Given the description of an element on the screen output the (x, y) to click on. 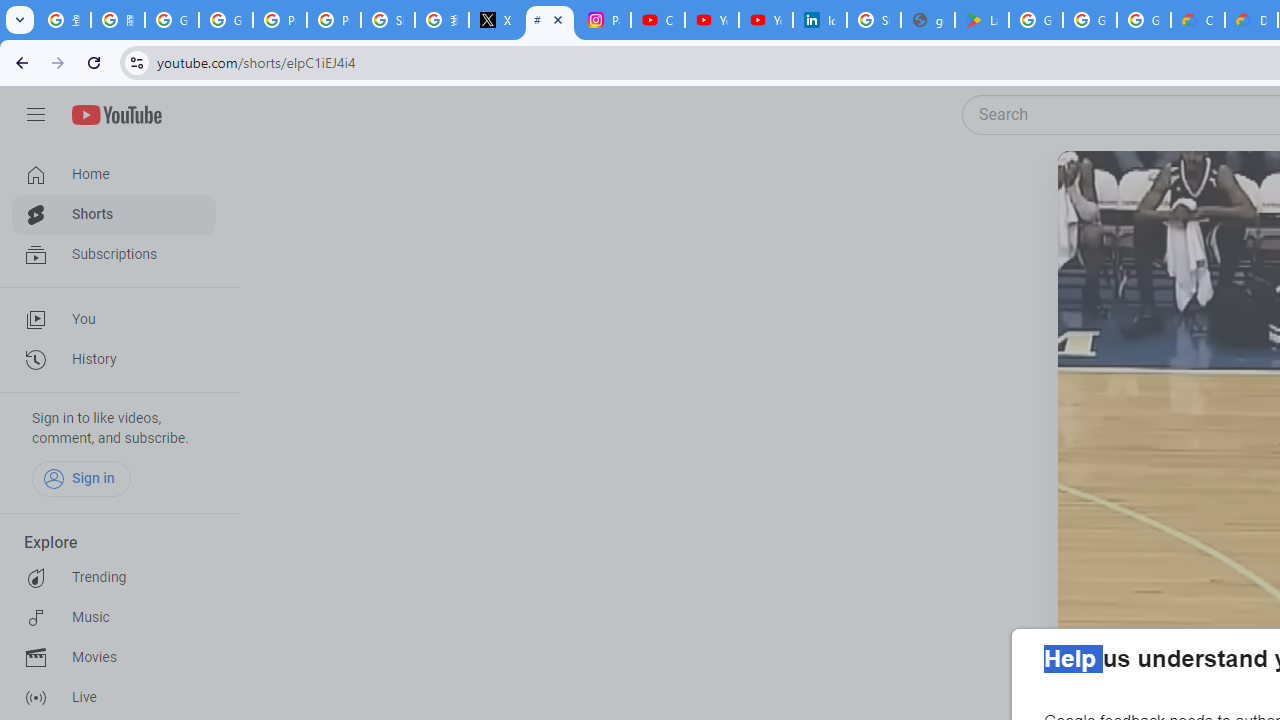
Customer Care | Google Cloud (1197, 20)
Google Workspace - Specific Terms (1144, 20)
Subscriptions (113, 254)
Movies (113, 657)
YouTube Culture & Trends - YouTube Top 10, 2021 (765, 20)
Sign in - Google Accounts (387, 20)
Music (113, 617)
Home (113, 174)
#nbabasketballhighlights - YouTube (550, 20)
Trending (113, 578)
